Given the description of an element on the screen output the (x, y) to click on. 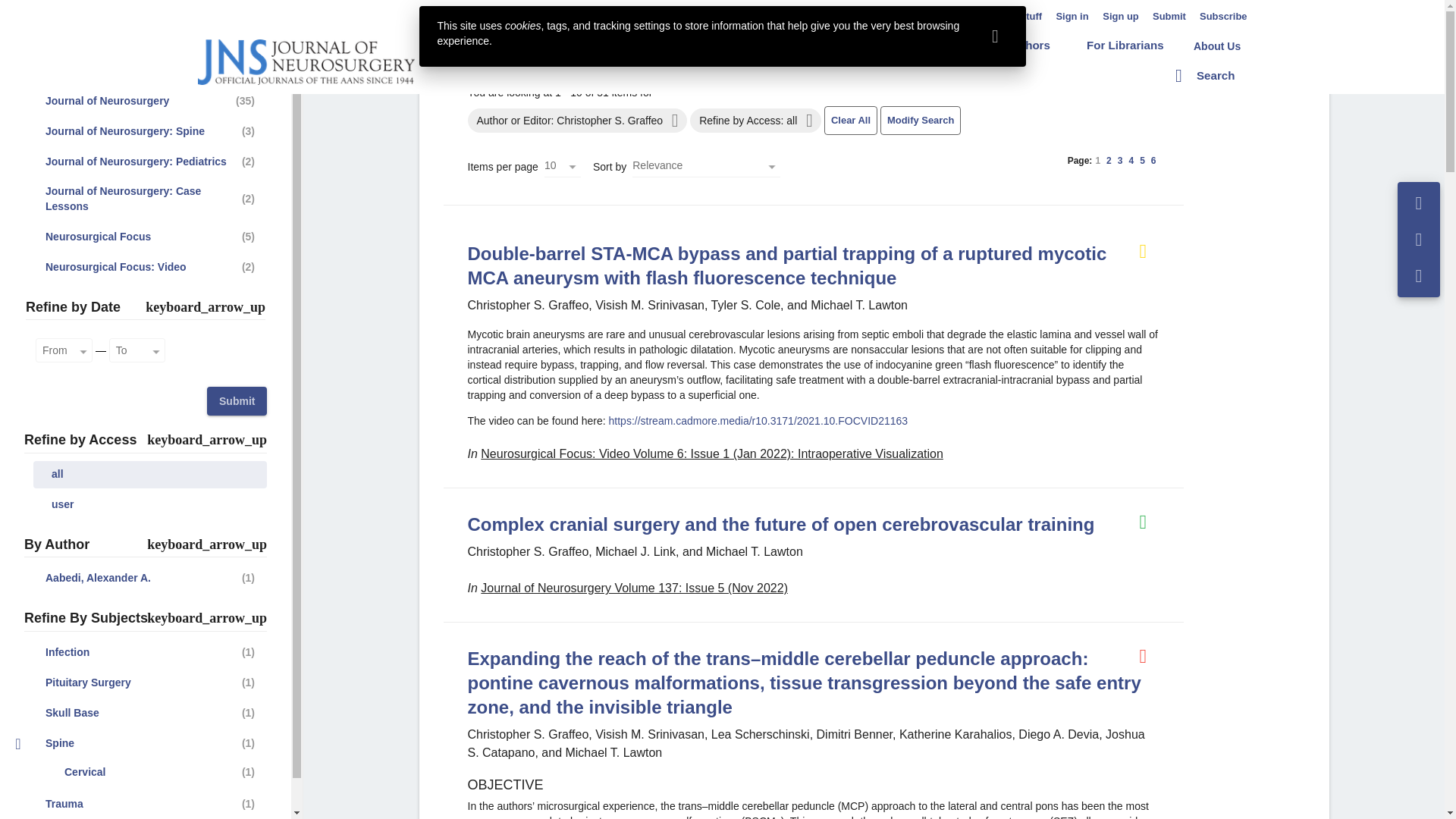
Sign in (1072, 16)
COVID-19 (600, 45)
Home (521, 45)
My Stuff (1022, 16)
Journals (679, 45)
My Stuff (1022, 16)
Dismiss this warning (994, 36)
Subscribe (1223, 16)
Submit (1168, 16)
Jump to Content (40, 8)
